Given the description of an element on the screen output the (x, y) to click on. 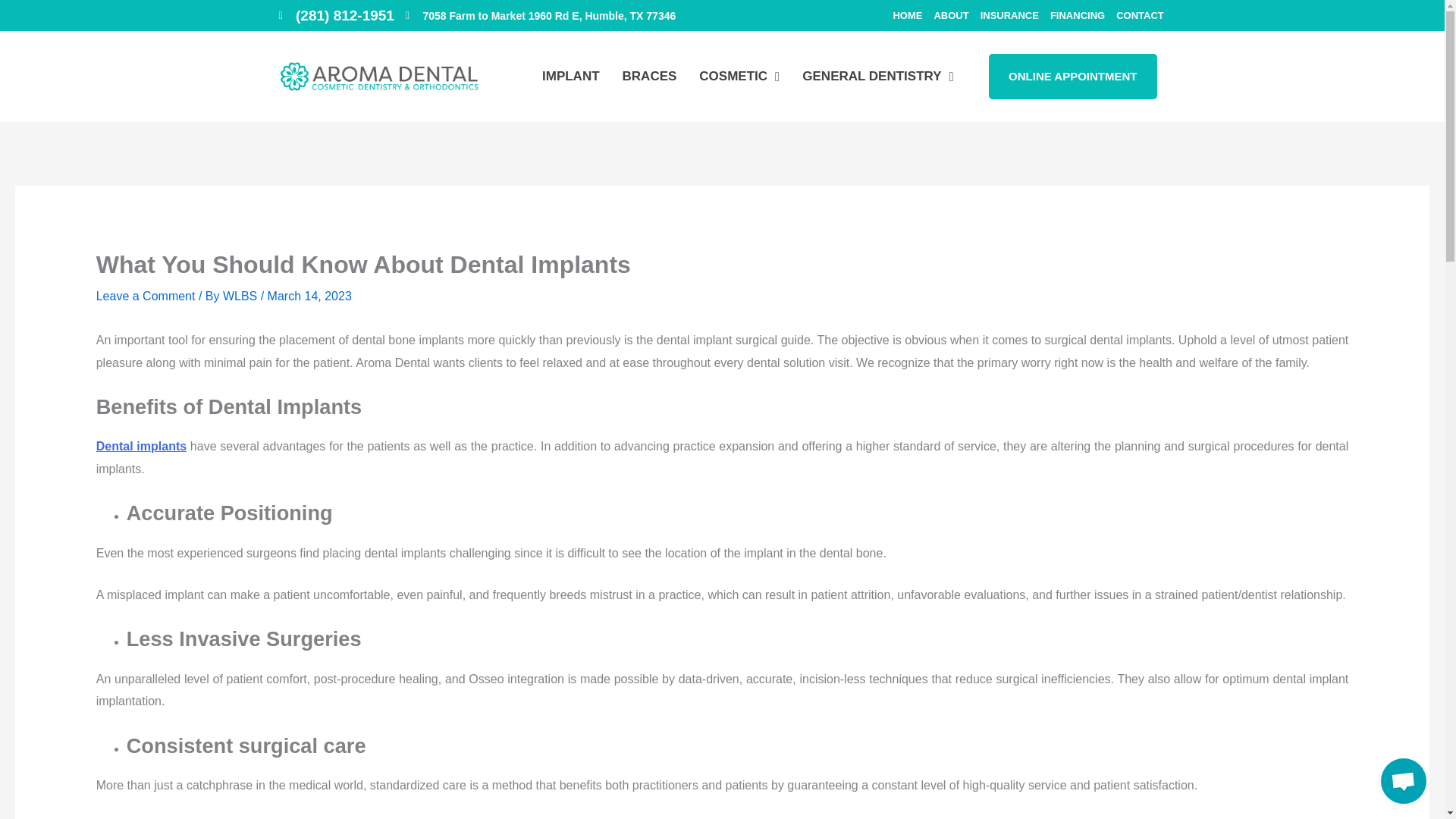
COSMETIC (738, 76)
INSURANCE (1009, 15)
CONTACT (1139, 15)
View all posts by WLBS (241, 295)
IMPLANT (570, 76)
GENERAL DENTISTRY (877, 76)
FINANCING (1077, 15)
7058 Farm to Market 1960 Rd E, Humble, TX 77346 (540, 15)
HOME (906, 15)
ABOUT (950, 15)
BRACES (650, 76)
